Given the description of an element on the screen output the (x, y) to click on. 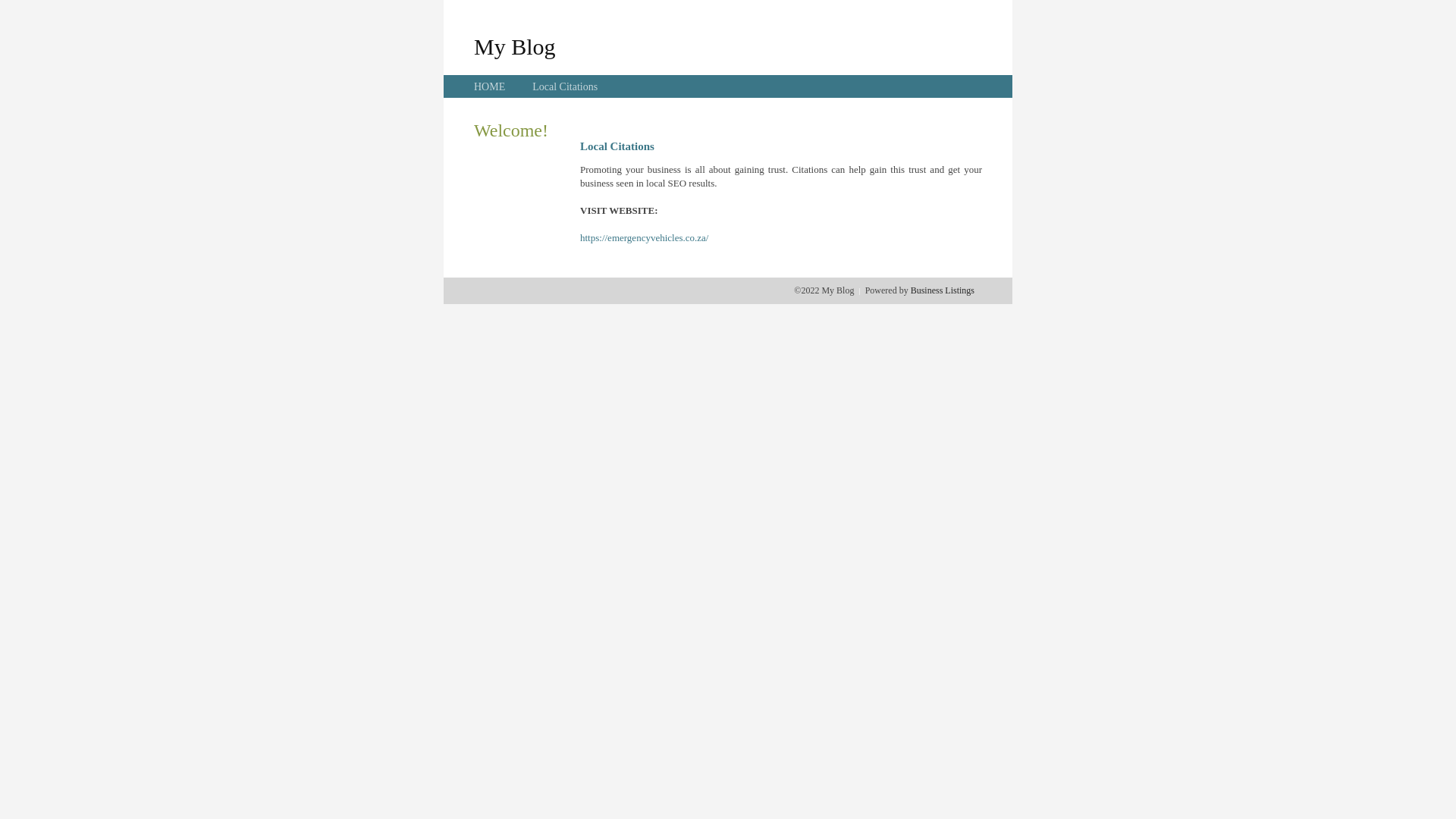
HOME Element type: text (489, 86)
Local Citations Element type: text (564, 86)
Business Listings Element type: text (942, 290)
https://emergencyvehicles.co.za/ Element type: text (644, 237)
My Blog Element type: text (514, 46)
